Given the description of an element on the screen output the (x, y) to click on. 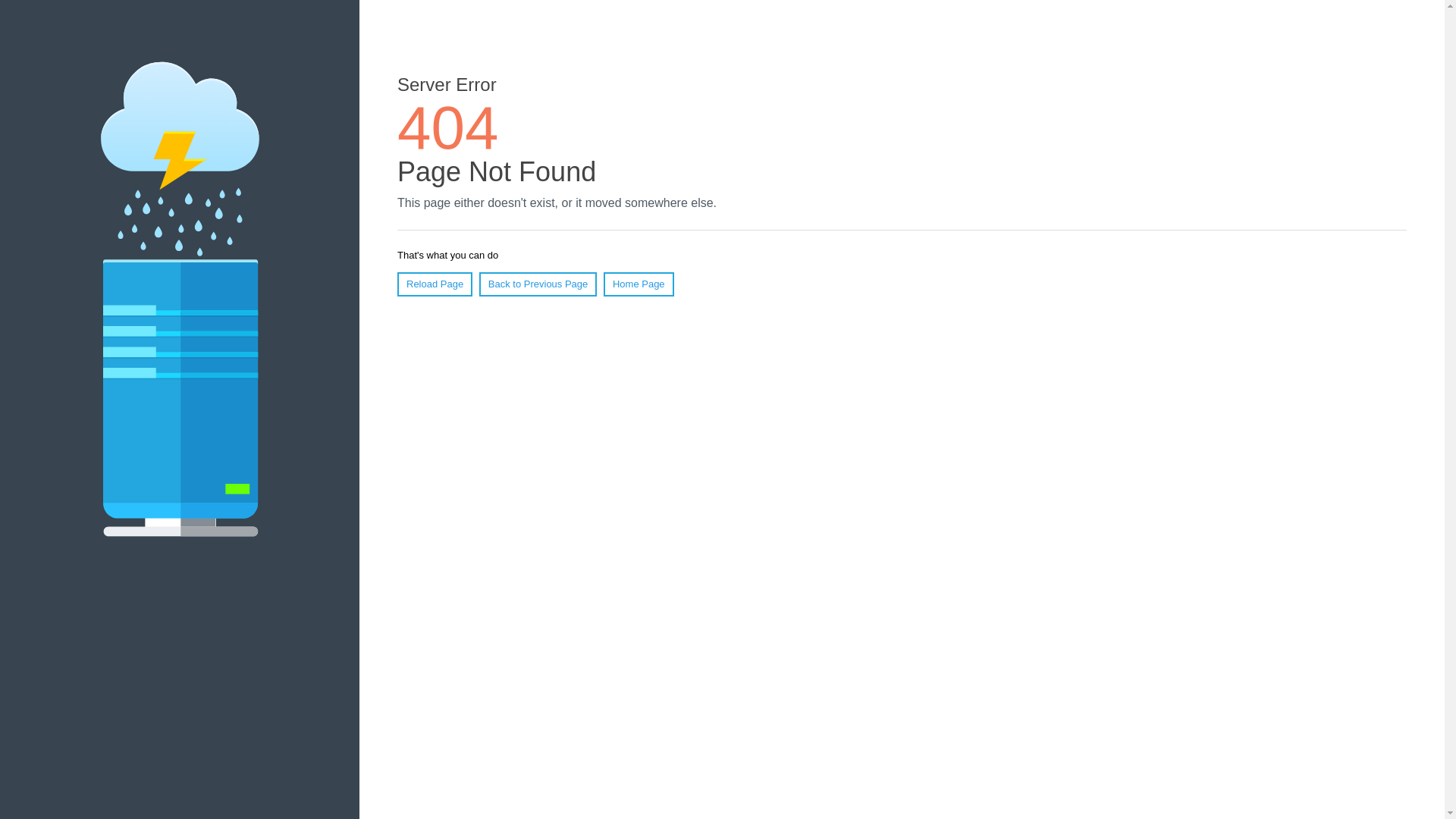
Reload Page Element type: text (434, 284)
Home Page Element type: text (638, 284)
Back to Previous Page Element type: text (538, 284)
